Given the description of an element on the screen output the (x, y) to click on. 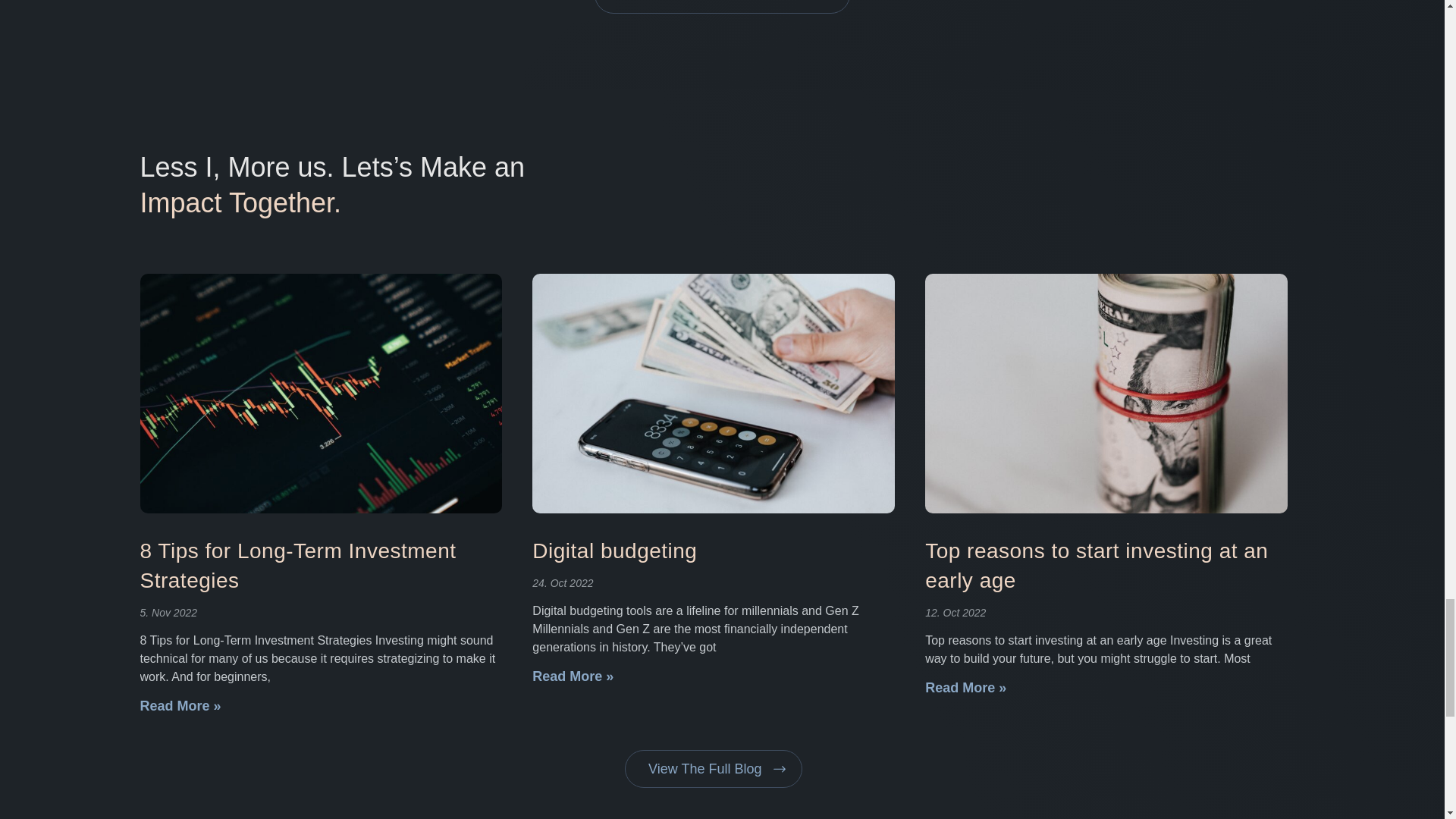
Top reasons to start investing at an early age (1096, 565)
Digital budgeting (614, 550)
8 Tips for Long-Term Investment Strategies (297, 565)
